Given the description of an element on the screen output the (x, y) to click on. 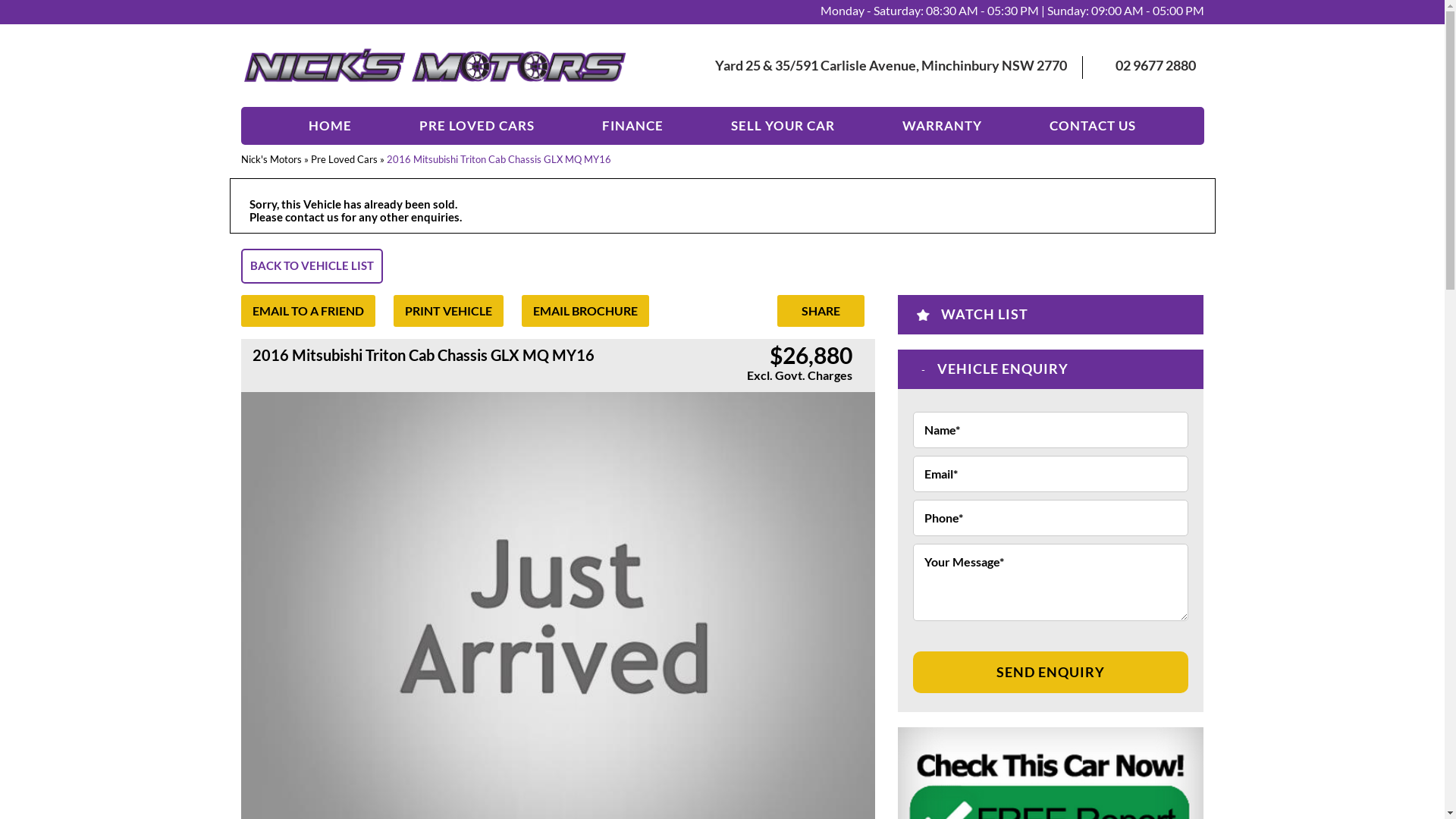
PRE LOVED CARS Element type: text (476, 125)
SEND ENQUIRY Element type: text (1050, 672)
WARRANTY Element type: text (942, 125)
EMAIL BROCHURE Element type: text (585, 310)
FINANCE Element type: text (632, 125)
Nick's Motors Element type: text (271, 159)
2016 Mitsubishi Triton Cab Chassis GLX MQ MY16 Element type: text (498, 159)
Pre Loved Cars Element type: text (343, 159)
Yard 25 & 35/591 Carlisle Avenue, Minchinbury NSW 2770 Element type: text (890, 64)
WATCH LIST Element type: text (1050, 314)
CONTACT US Element type: text (1092, 125)
BACK TO VEHICLE LIST Element type: text (311, 265)
PRINT VEHICLE Element type: text (447, 310)
SELL YOUR CAR Element type: text (782, 125)
HOME Element type: text (330, 125)
EMAIL TO A FRIEND Element type: text (308, 310)
WATCH LIST Element type: text (984, 313)
02 9677 2880 Element type: text (1155, 64)
